Given the description of an element on the screen output the (x, y) to click on. 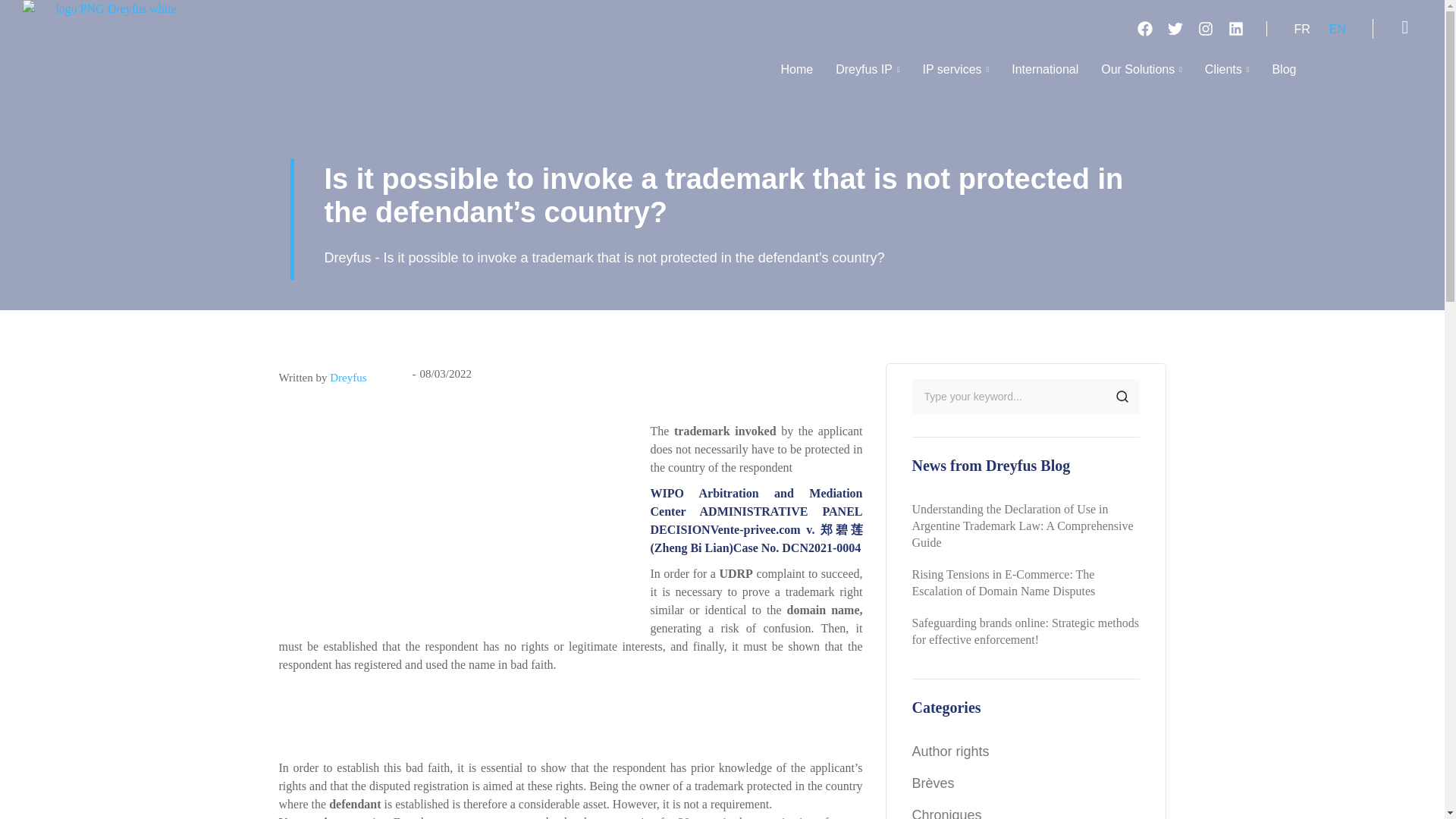
search-button (1404, 27)
Home (796, 70)
EN (1336, 27)
FR (1301, 27)
View all posts by Dreyfus (348, 377)
Search for: (1024, 396)
Dreyfus IP (867, 70)
Search (1120, 396)
IP services (956, 70)
